Given the description of an element on the screen output the (x, y) to click on. 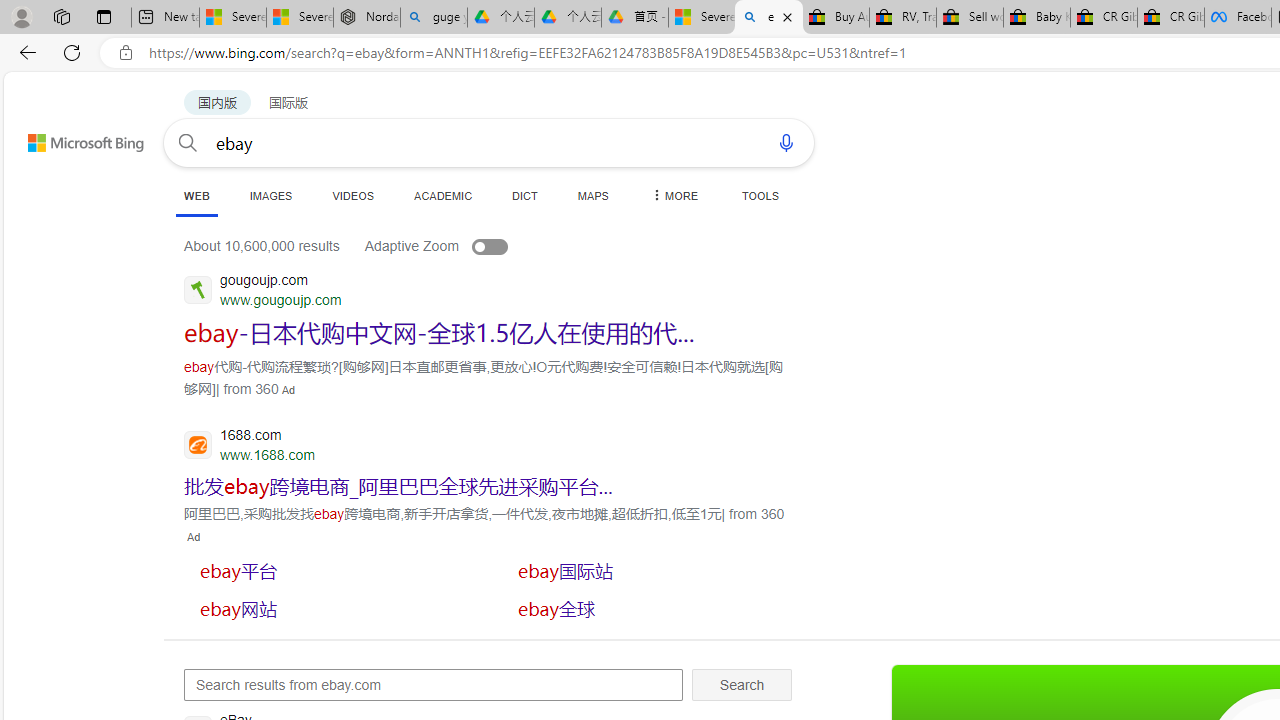
ACADEMIC (443, 195)
WEB (196, 195)
SERP,5715 (651, 608)
SERP,5704 (439, 331)
Buy Auto Parts & Accessories | eBay (835, 17)
Search results from ebay.com (433, 684)
TOOLS (760, 195)
MORE (673, 195)
Search button (187, 142)
